Given the description of an element on the screen output the (x, y) to click on. 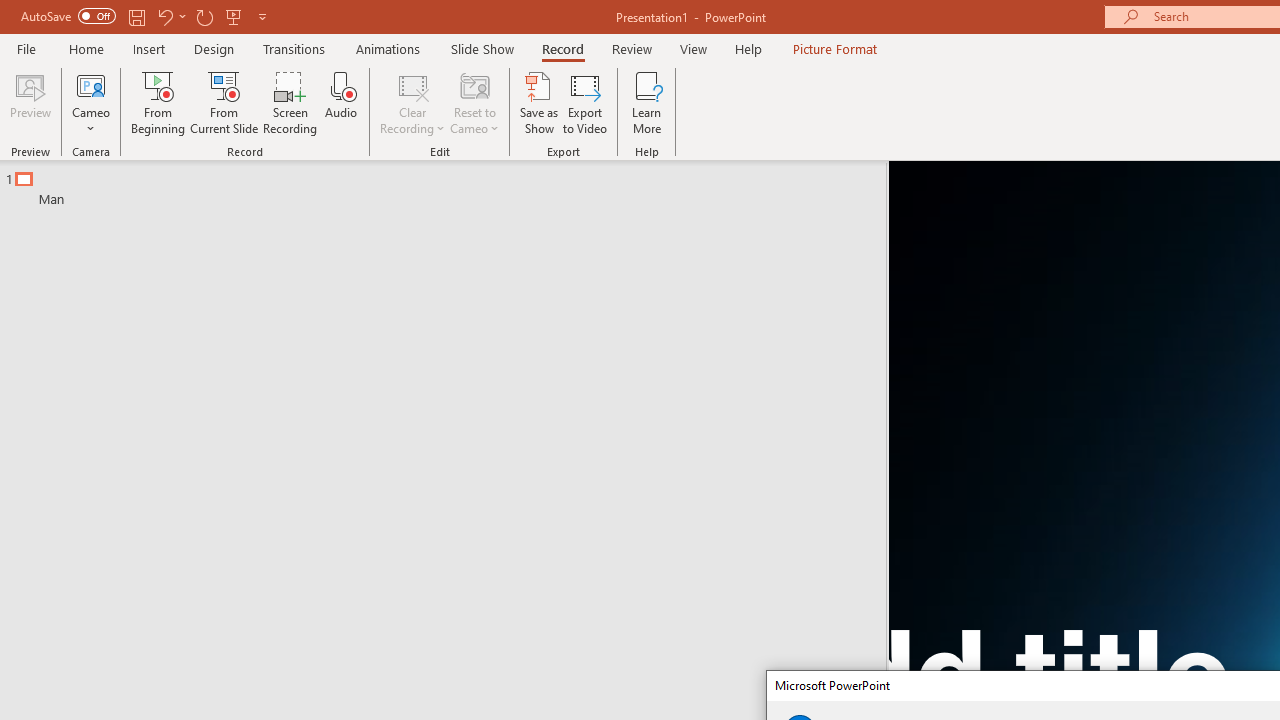
Picture Format (834, 48)
